Given the description of an element on the screen output the (x, y) to click on. 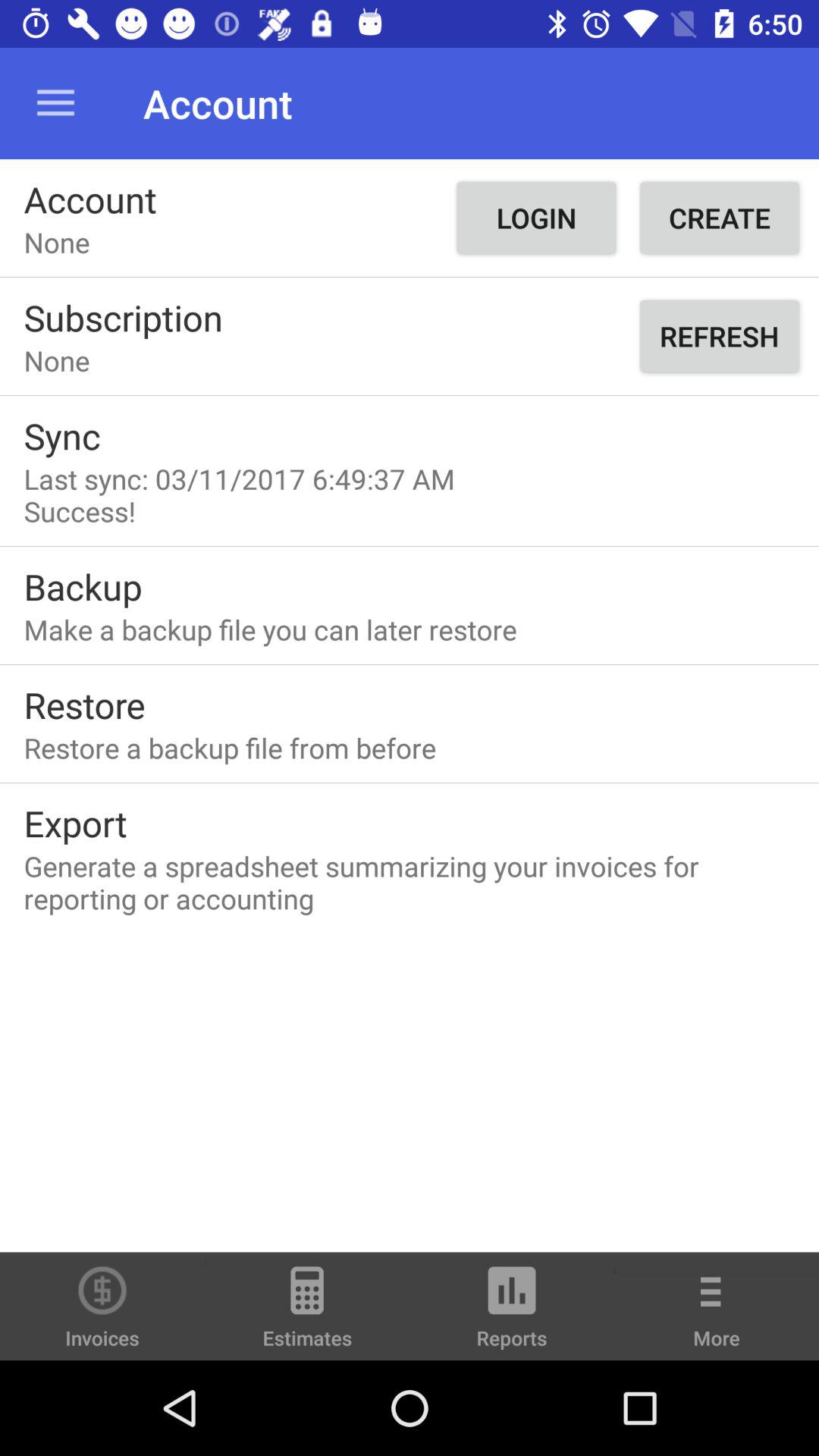
choose icon next to the reports (306, 1313)
